Given the description of an element on the screen output the (x, y) to click on. 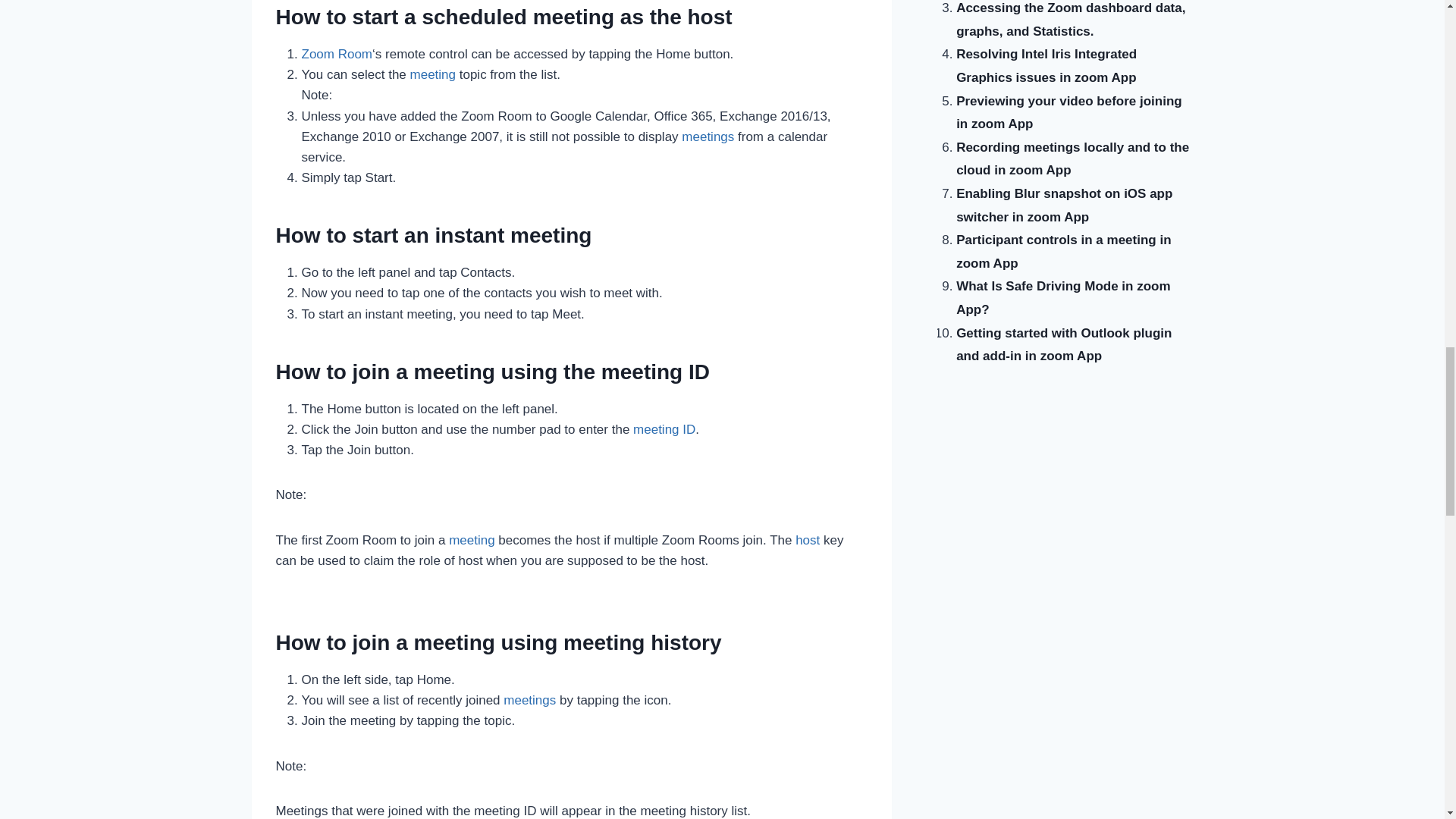
meetings (707, 136)
Zoom Room (336, 53)
meeting (471, 540)
host (806, 540)
meetings (529, 699)
meeting ID (664, 429)
meeting (471, 540)
meeting ID (664, 429)
meeting (432, 74)
Zoom Room (336, 53)
host (806, 540)
meeting (432, 74)
meetings (707, 136)
meetings (529, 699)
